Given the description of an element on the screen output the (x, y) to click on. 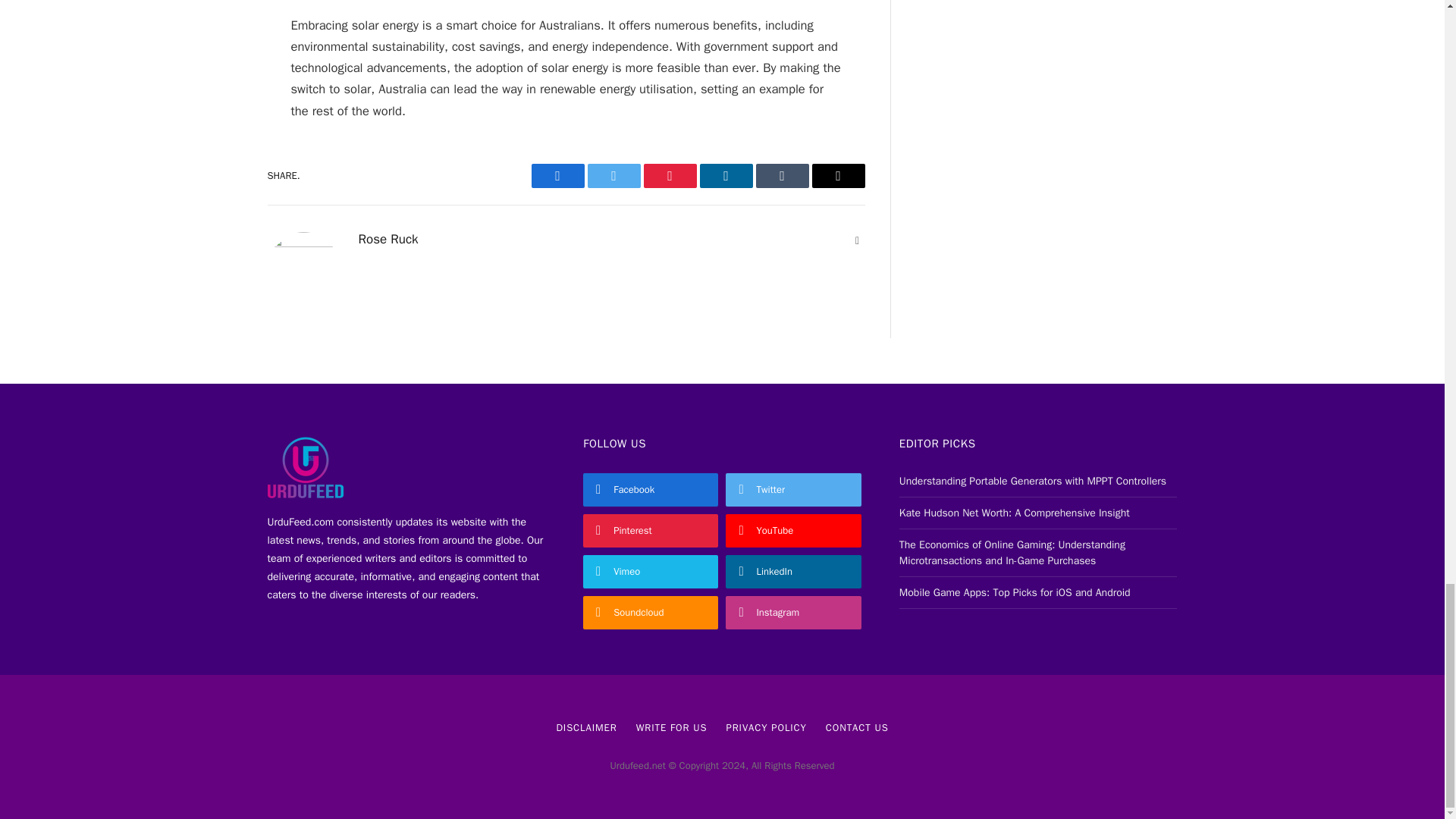
Email (837, 175)
Facebook (557, 175)
Website (856, 240)
Rose Ruck (387, 239)
Tumblr (781, 175)
Twitter (613, 175)
Pinterest (669, 175)
LinkedIn (725, 175)
